Given the description of an element on the screen output the (x, y) to click on. 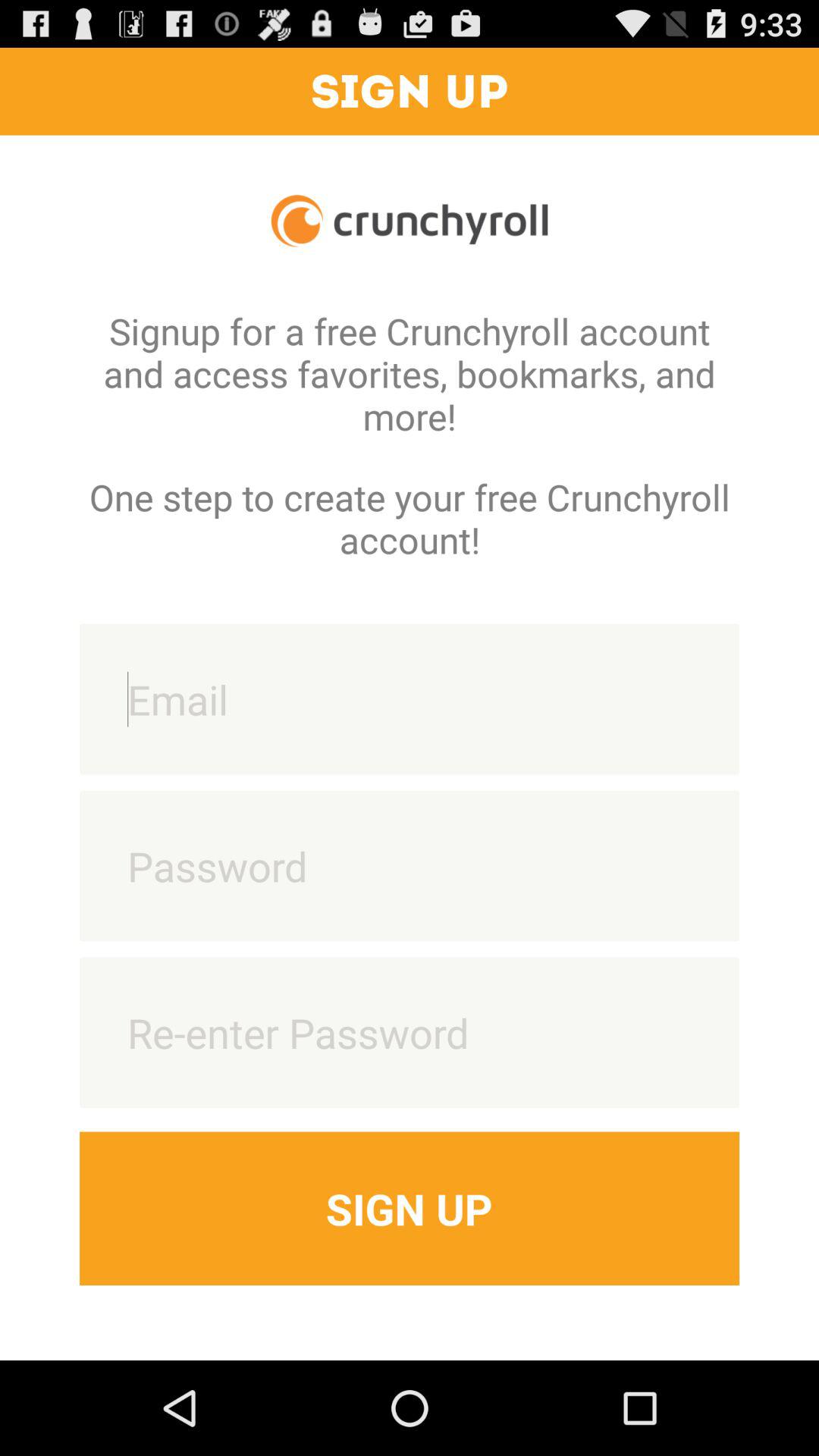
enter email address (409, 698)
